Given the description of an element on the screen output the (x, y) to click on. 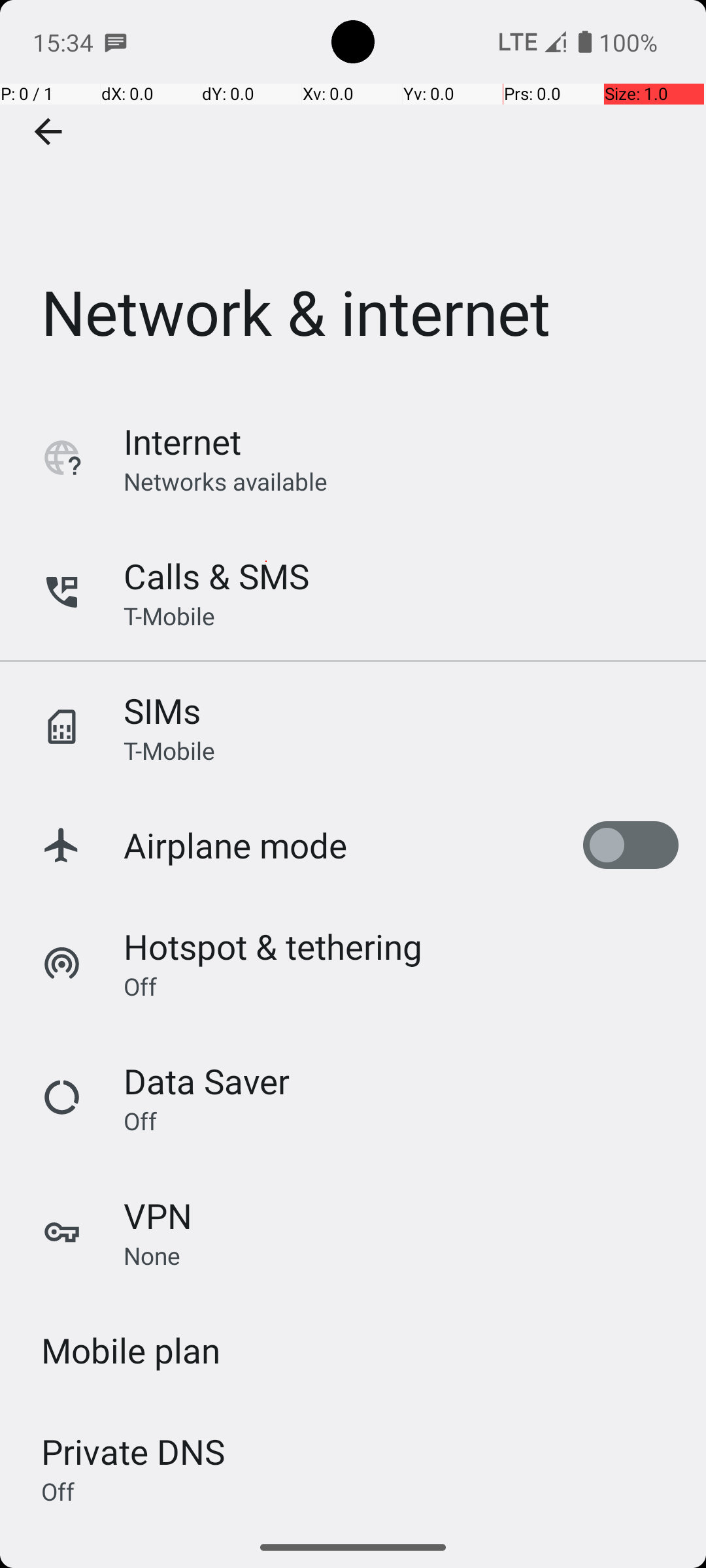
Networks available Element type: android.widget.TextView (225, 480)
SIMs Element type: android.widget.TextView (161, 710)
Airplane mode Element type: android.widget.TextView (235, 844)
Hotspot & tethering Element type: android.widget.TextView (272, 946)
VPN Element type: android.widget.TextView (157, 1215)
Mobile plan Element type: android.widget.TextView (130, 1349)
Private DNS Element type: android.widget.TextView (132, 1451)
